Given the description of an element on the screen output the (x, y) to click on. 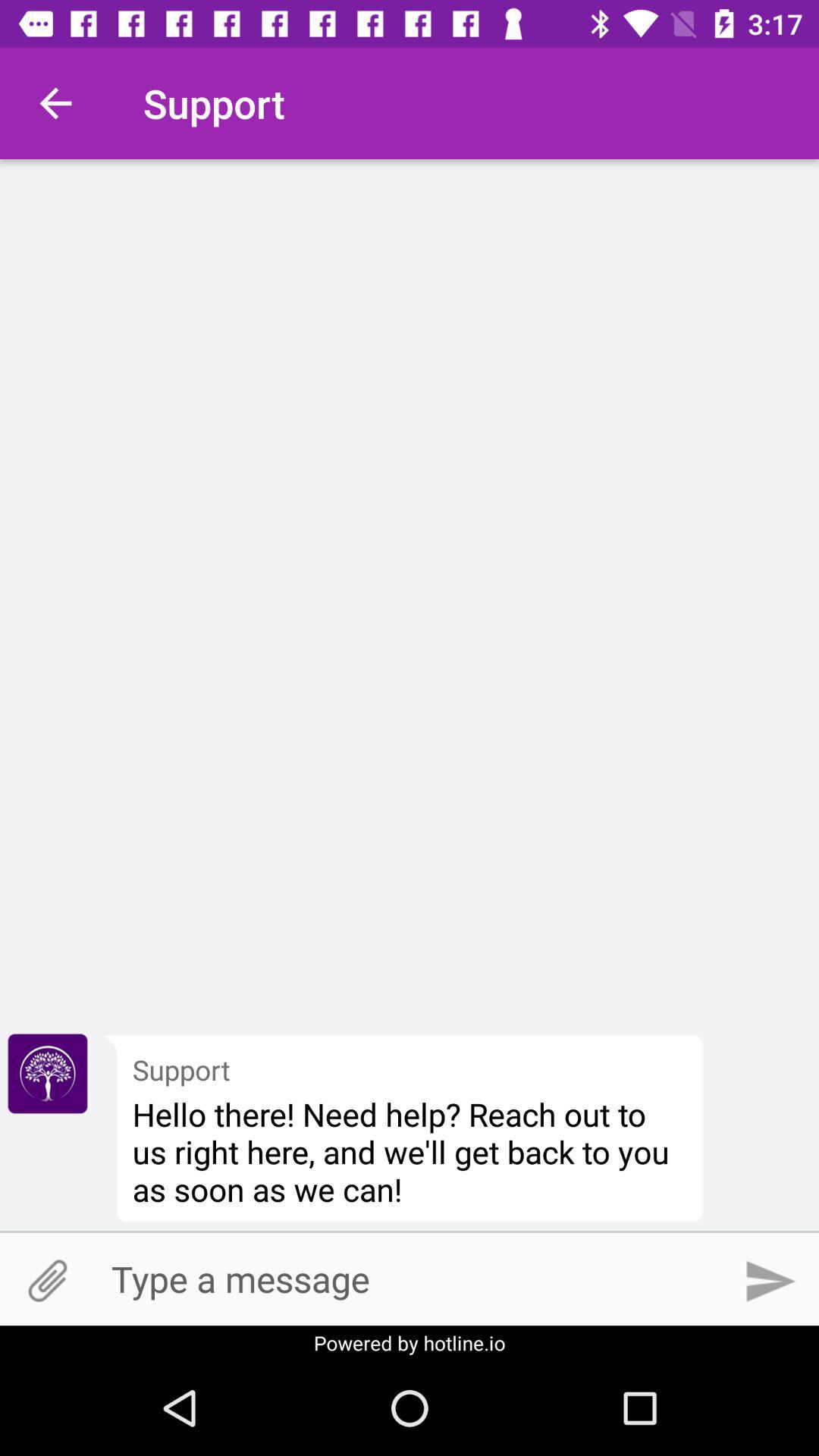
jump until the hello there need (409, 1151)
